Given the description of an element on the screen output the (x, y) to click on. 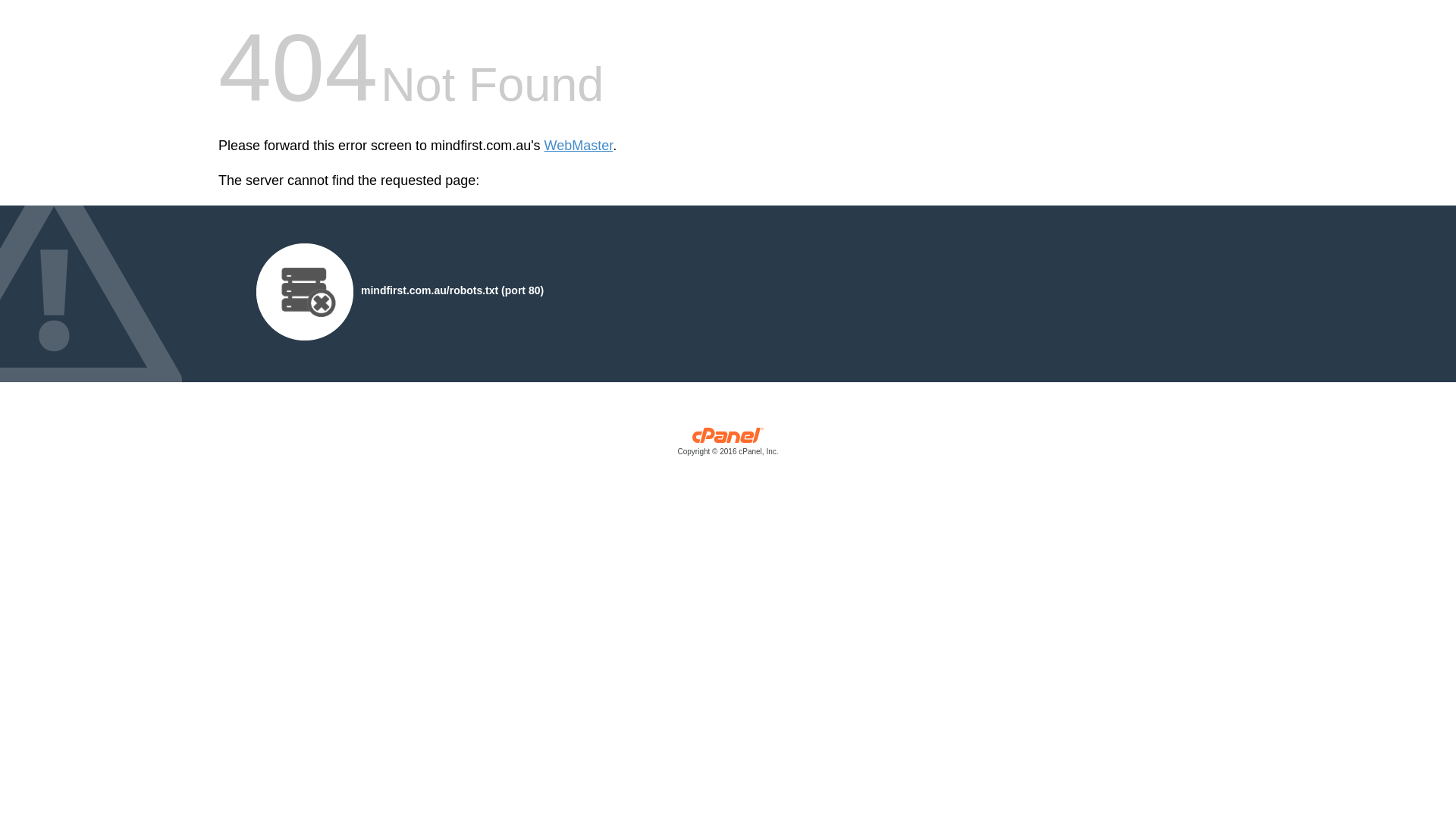
WebMaster Element type: text (578, 145)
